Given the description of an element on the screen output the (x, y) to click on. 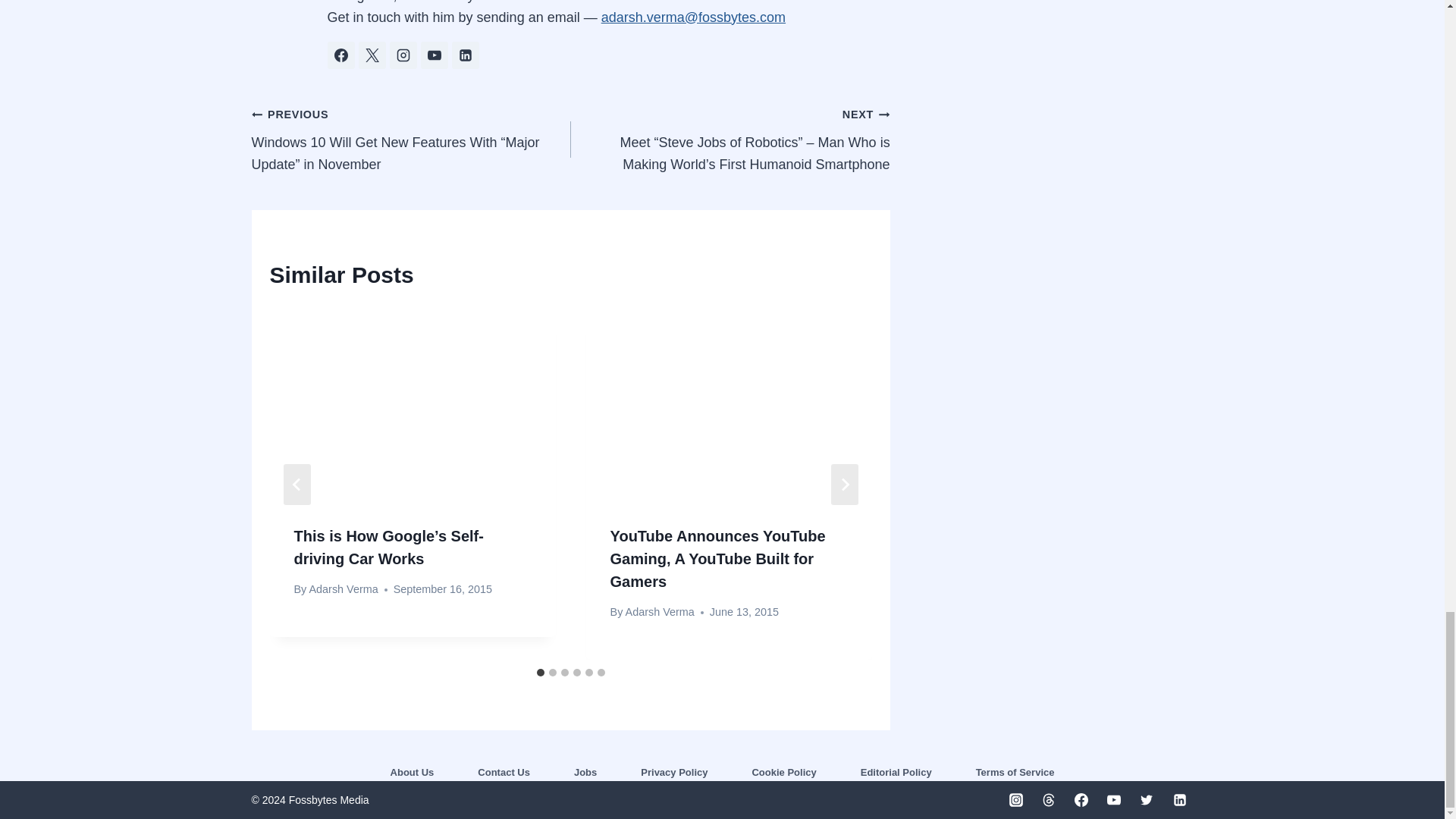
Follow Adarsh Verma on X formerly Twitter (371, 54)
Follow Adarsh Verma on Facebook (341, 54)
Follow Adarsh Verma on Instagram (403, 54)
Follow Adarsh Verma on Youtube (434, 54)
Adarsh Verma (342, 589)
Follow Adarsh Verma on Linkedin (465, 54)
